Given the description of an element on the screen output the (x, y) to click on. 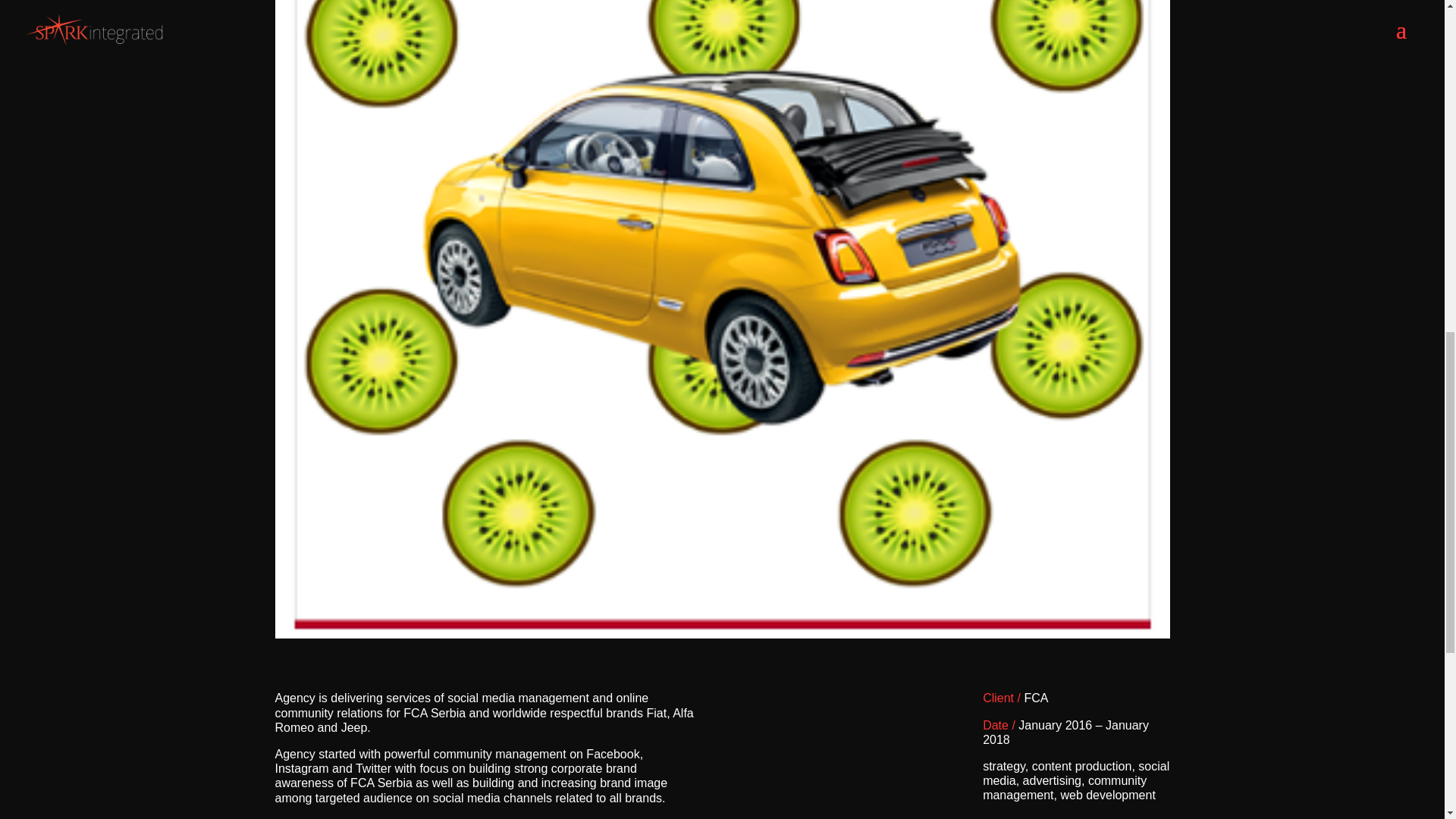
8 (767, 612)
3 (703, 612)
6 (741, 612)
FIAT 500C (722, 637)
5 (729, 612)
2 (690, 612)
